Given the description of an element on the screen output the (x, y) to click on. 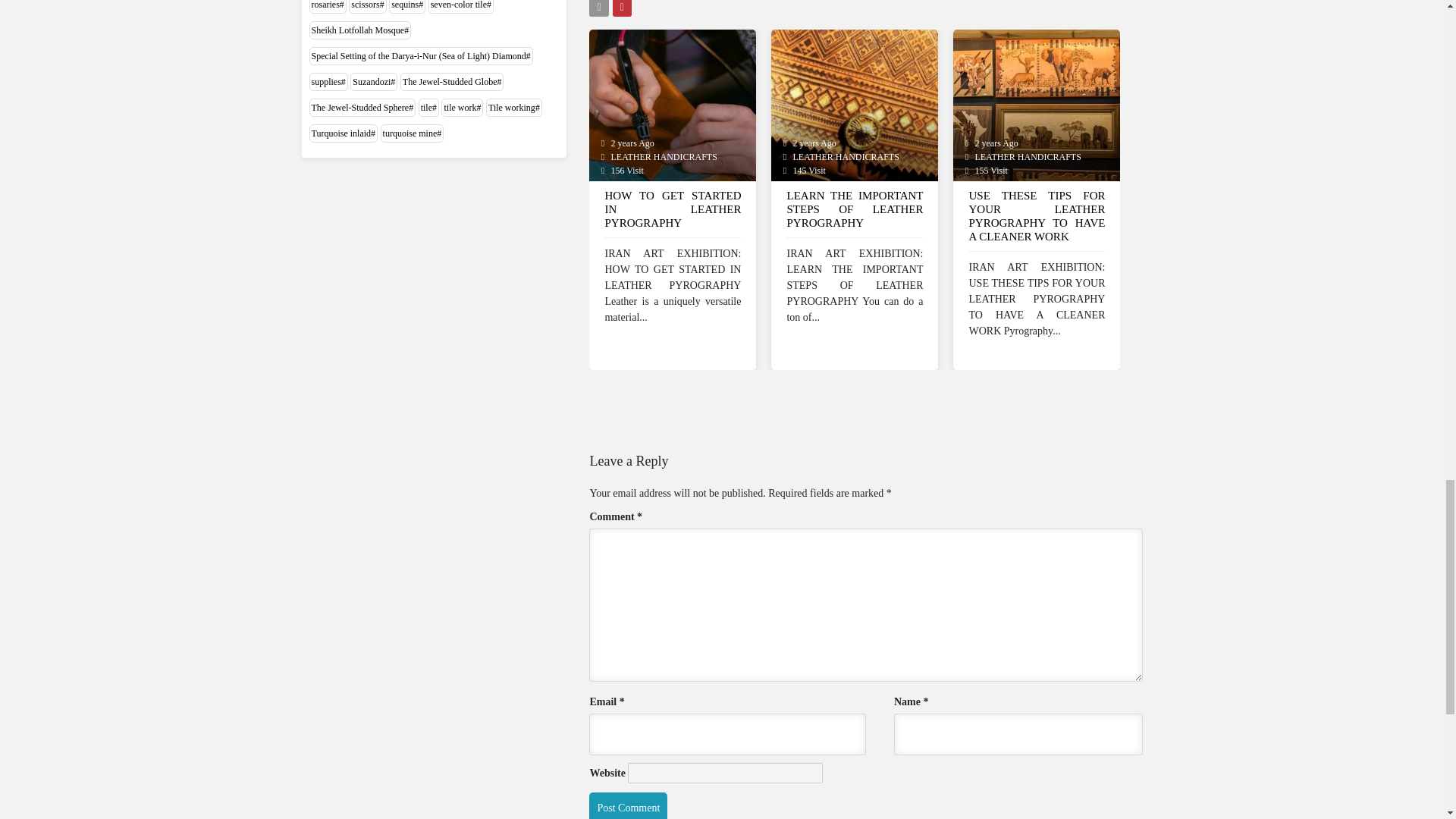
LEARN THE IMPORTANT STEPS OF LEATHER PYROGRAPHY (854, 103)
HOW TO GET STARTED IN LEATHER PYROGRAPHY (672, 103)
HOW TO GET STARTED IN LEATHER PYROGRAPHY (672, 213)
LEARN THE IMPORTANT STEPS OF LEATHER PYROGRAPHY (854, 213)
Post Comment (627, 805)
